Given the description of an element on the screen output the (x, y) to click on. 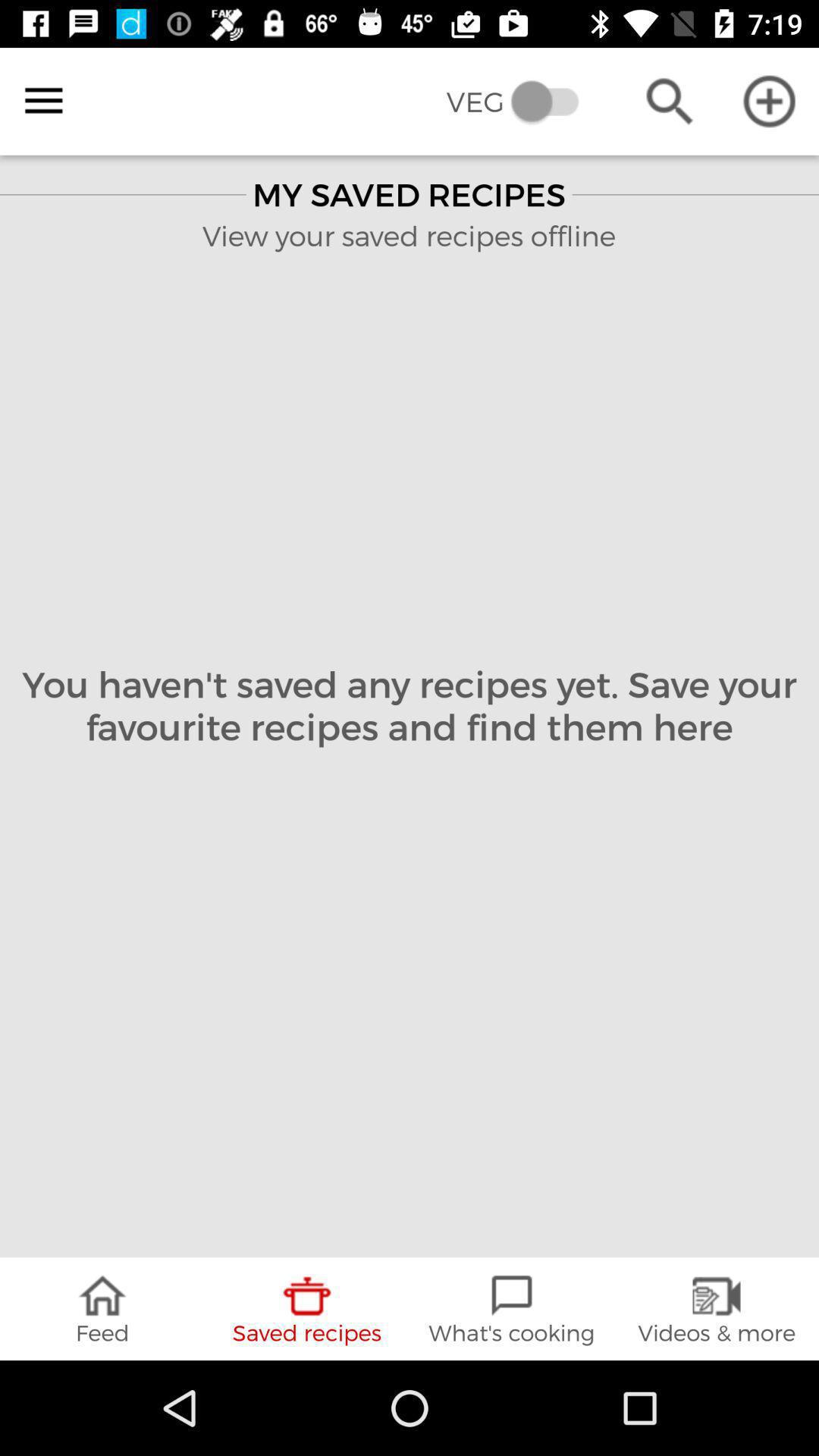
press the icon above the my saved recipes item (522, 101)
